Given the description of an element on the screen output the (x, y) to click on. 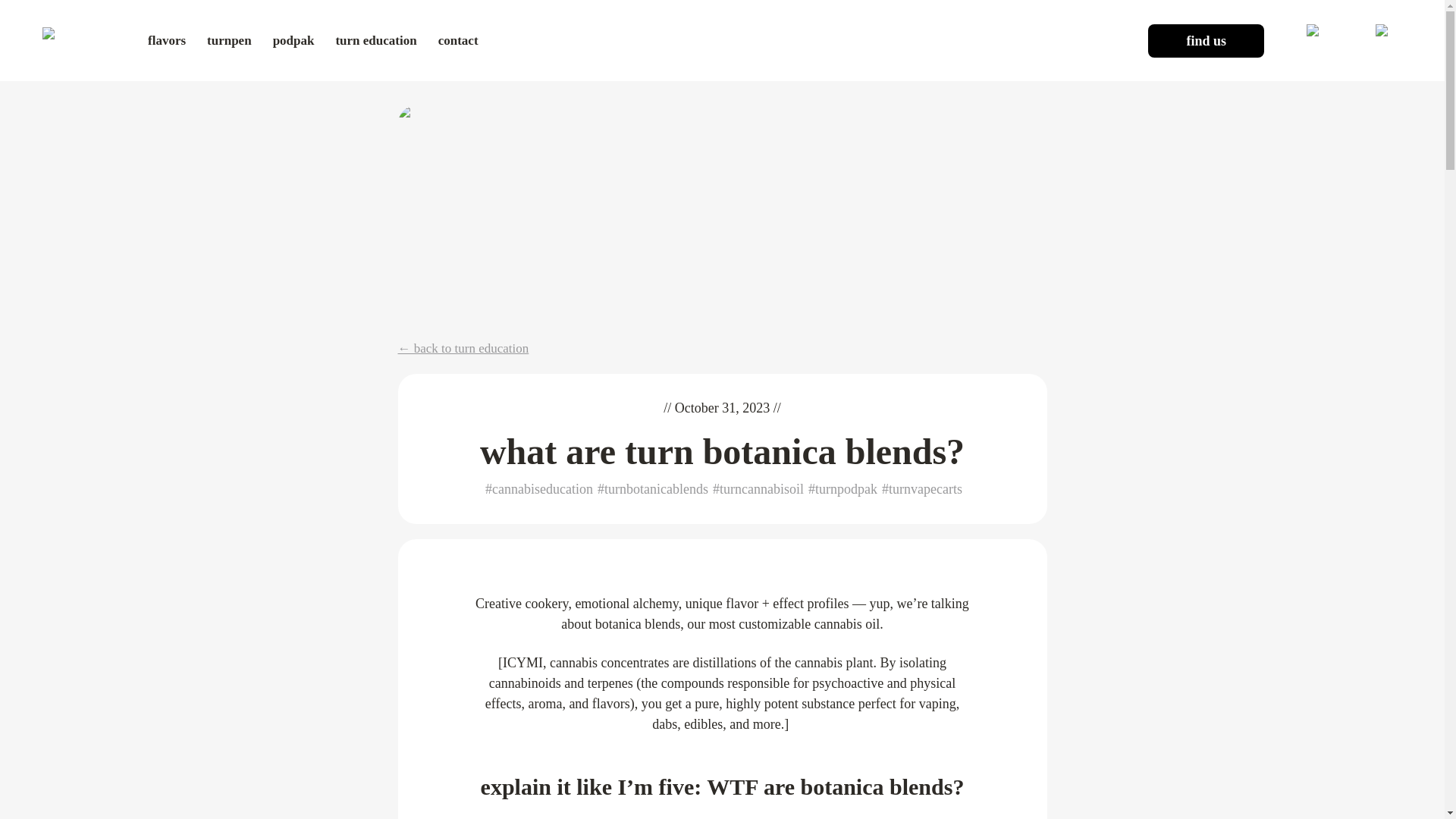
find us (1205, 40)
contact (458, 40)
turn education (375, 40)
podpak (293, 40)
flavors (167, 40)
turnpen (228, 40)
